Given the description of an element on the screen output the (x, y) to click on. 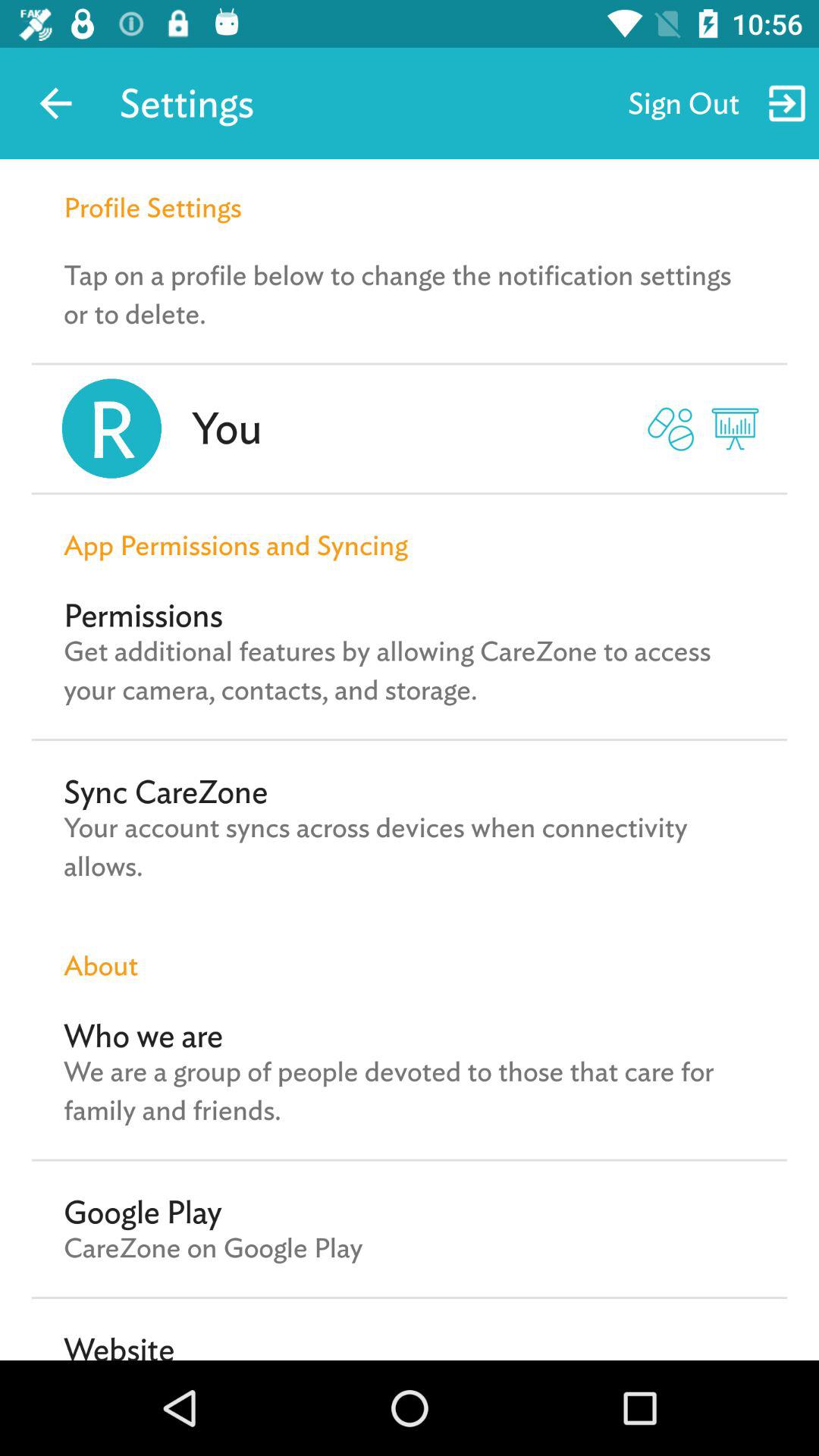
go back (55, 103)
